Given the description of an element on the screen output the (x, y) to click on. 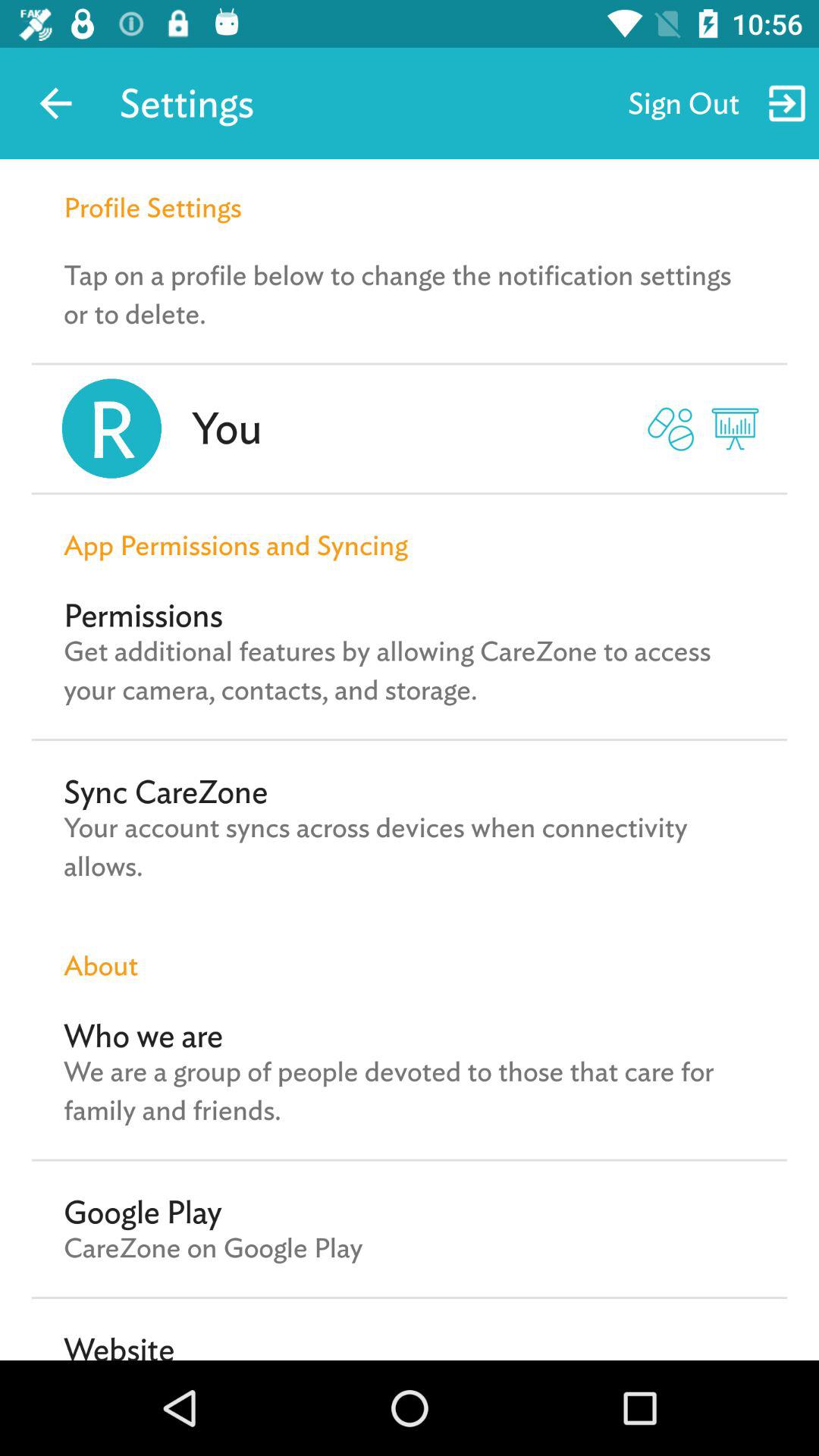
go back (55, 103)
